Given the description of an element on the screen output the (x, y) to click on. 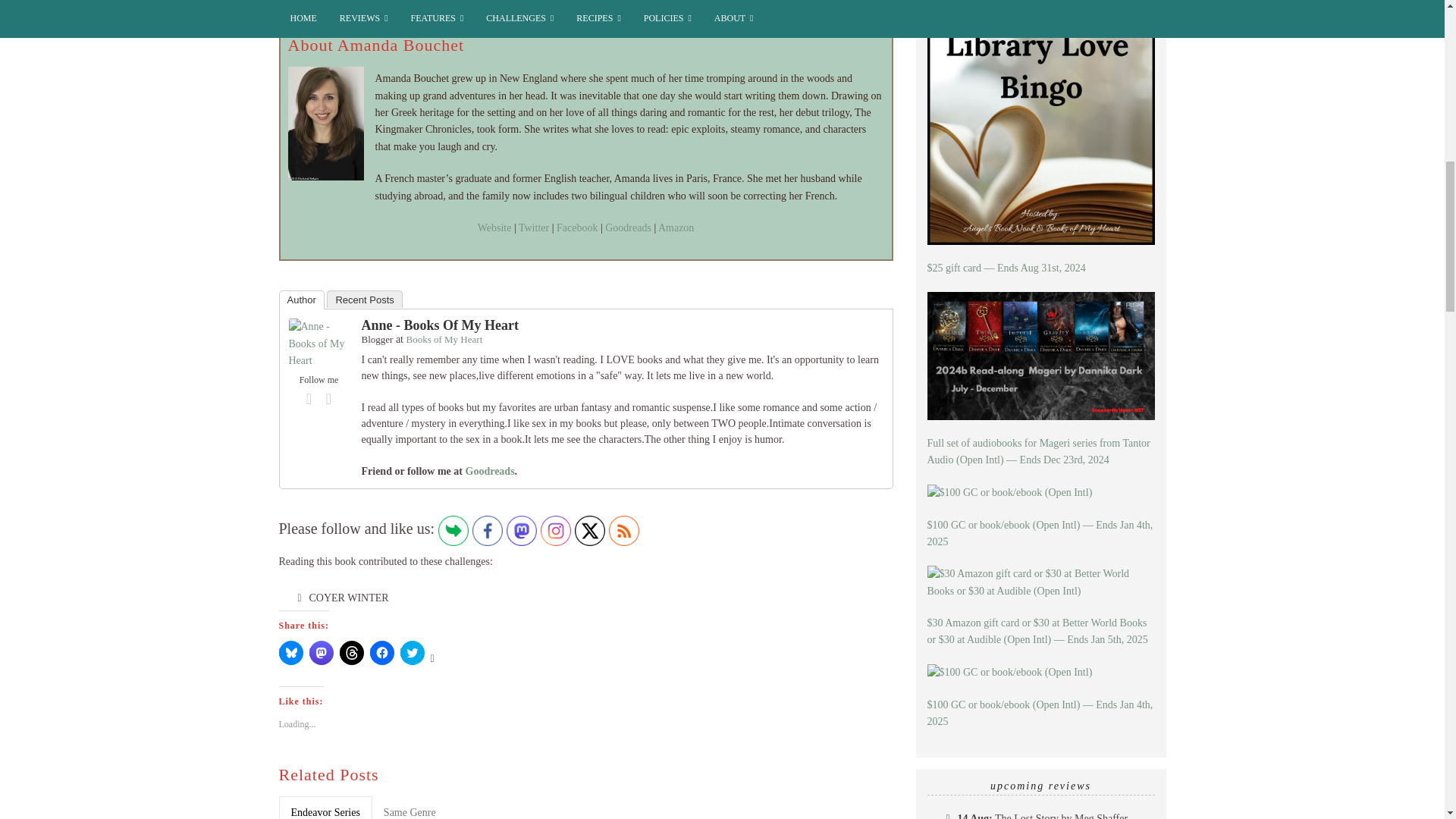
Facebook (486, 530)
Anne - Books of My Heart (318, 342)
Follow by Email (453, 530)
Instagram (555, 530)
Twitter (328, 398)
Twitter (590, 530)
Facebook (308, 398)
